Given the description of an element on the screen output the (x, y) to click on. 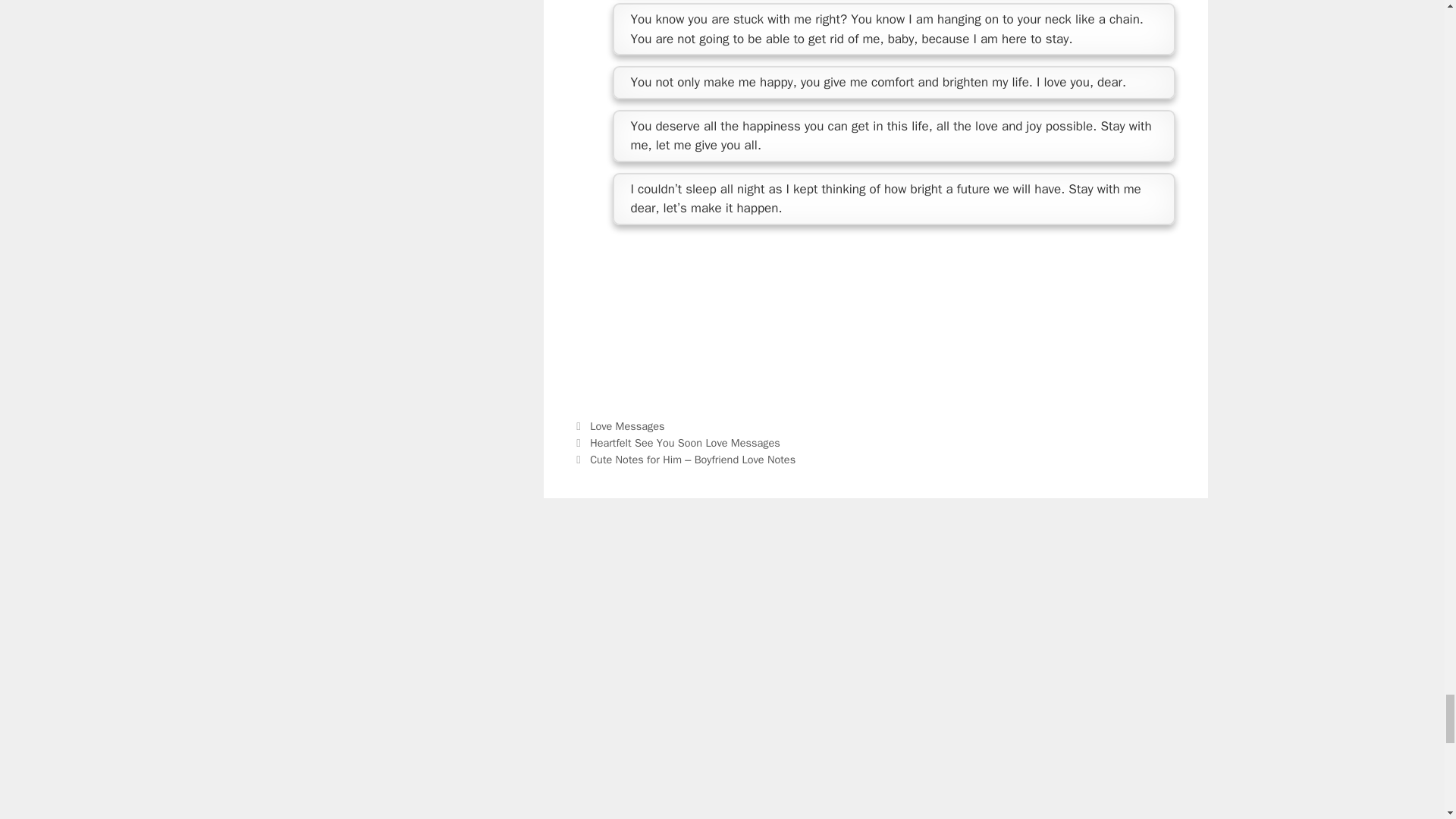
Love Messages (626, 426)
Heartfelt See You Soon Love Messages (684, 442)
